Given the description of an element on the screen output the (x, y) to click on. 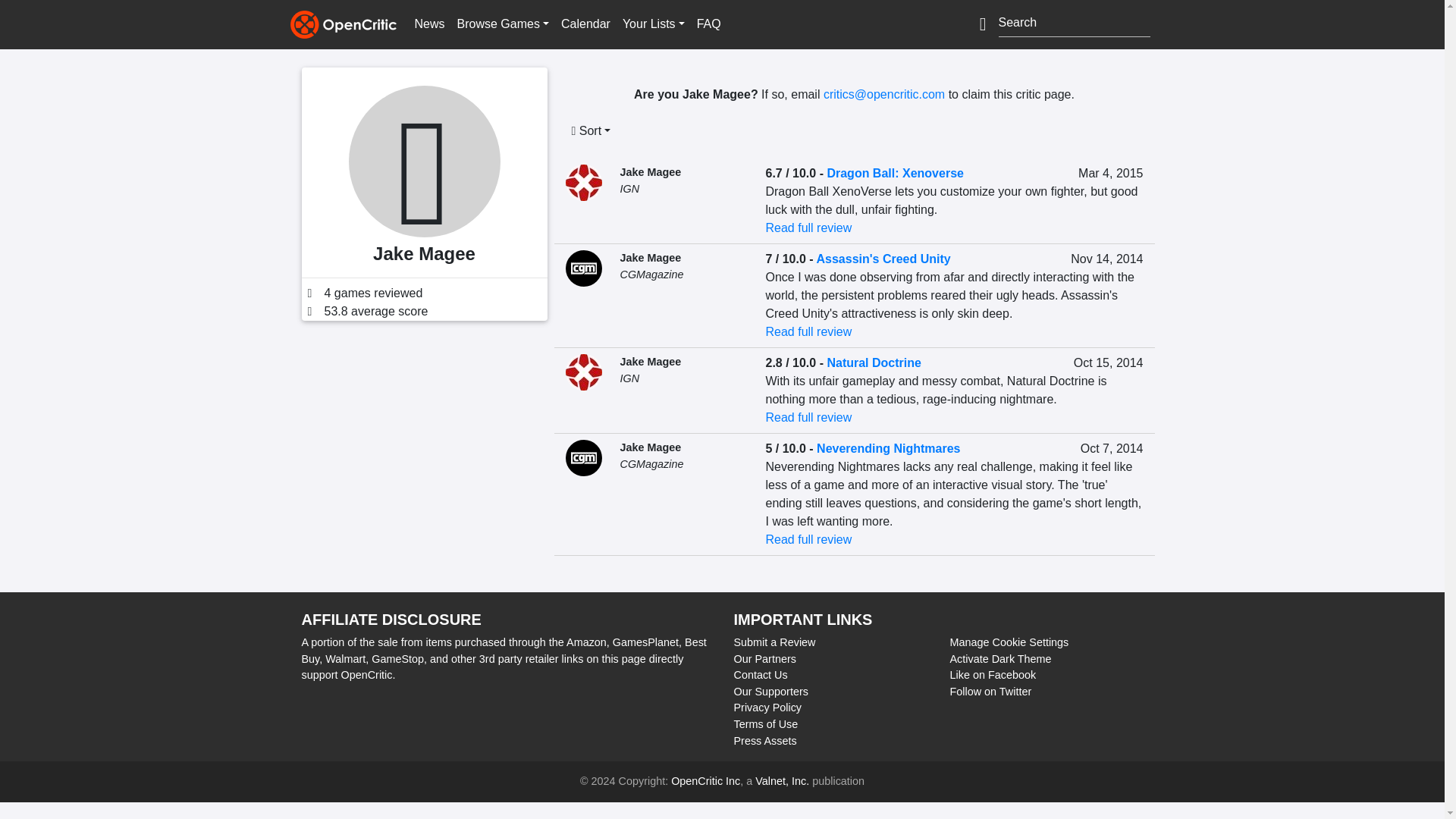
Read full review (808, 227)
CGMagazine (652, 274)
Read full review (808, 331)
Calendar (584, 24)
News (428, 24)
Browse Games (502, 24)
Jake Magee (650, 172)
Dragon Ball: Xenoverse (895, 173)
IGN (630, 188)
Natural Doctrine (873, 362)
